Given the description of an element on the screen output the (x, y) to click on. 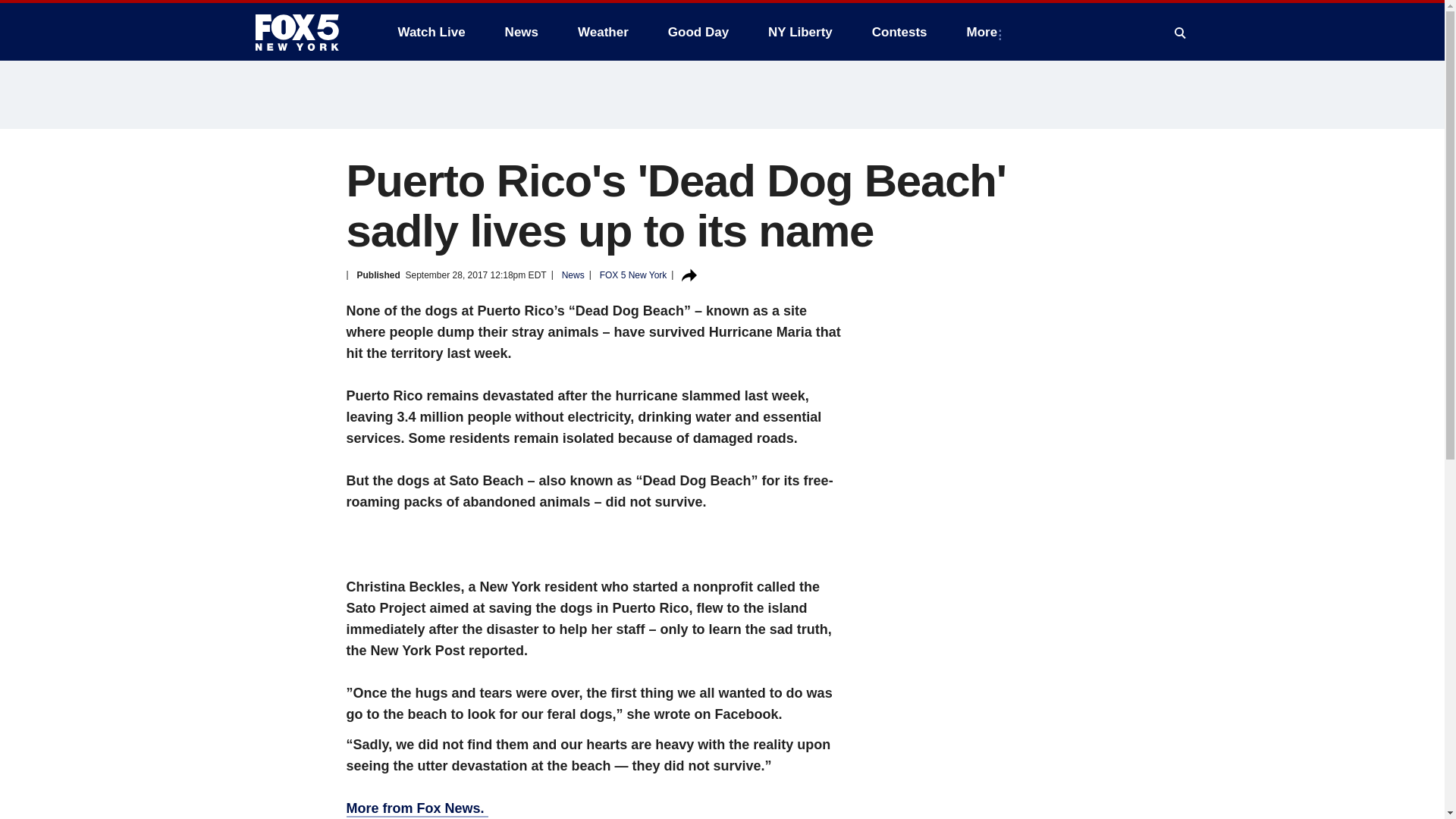
Contests (899, 32)
Watch Live (431, 32)
NY Liberty (799, 32)
Good Day (698, 32)
News (521, 32)
Weather (603, 32)
More (985, 32)
